Given the description of an element on the screen output the (x, y) to click on. 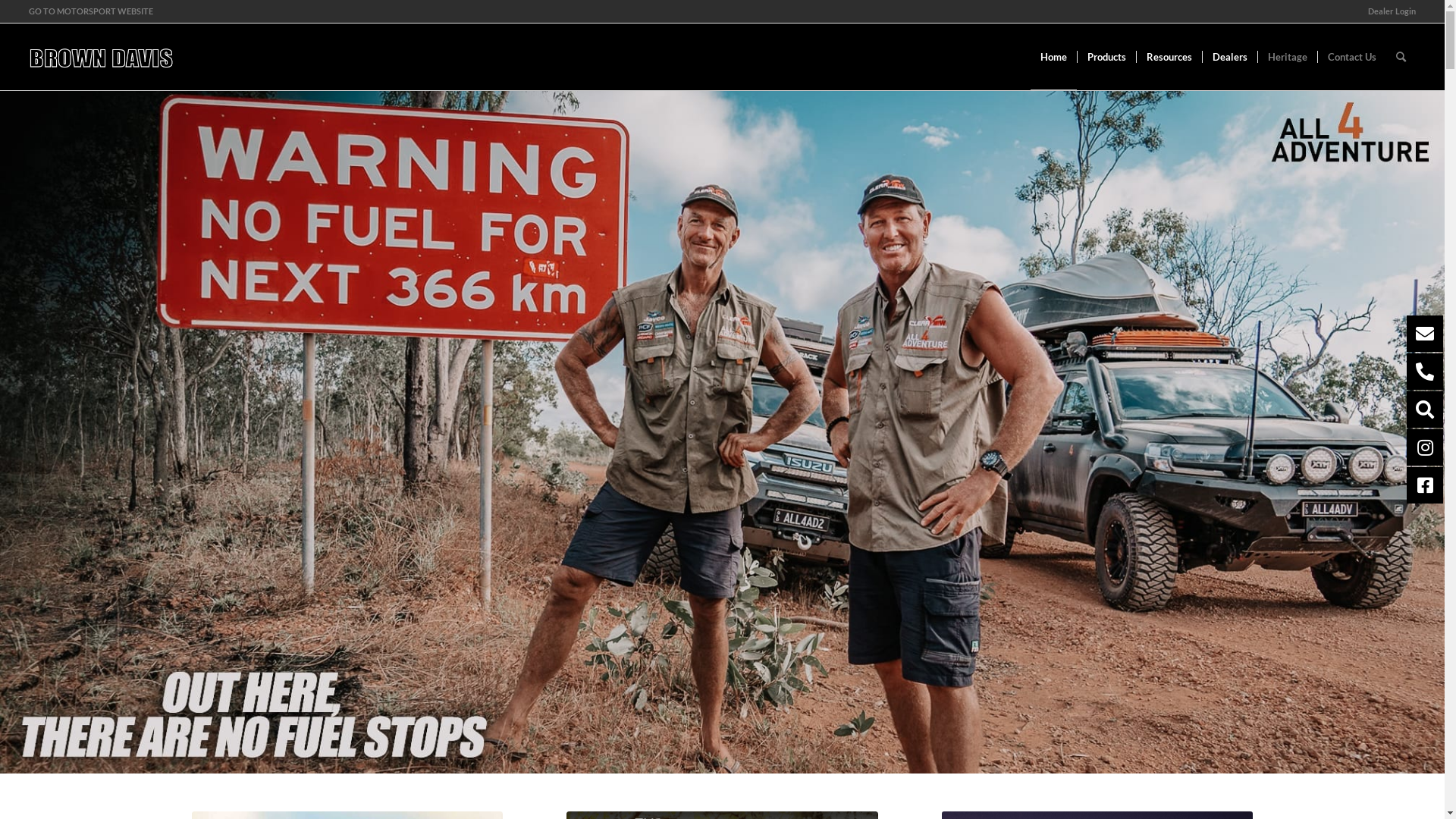
Dealer Login Element type: text (1391, 10)
Home Element type: text (1053, 56)
Resources Element type: text (1168, 56)
Heritage Element type: text (1287, 56)
Dealers Element type: text (1229, 56)
GO TO MOTORSPORT WEBSITE Element type: text (90, 10)
Contact Us Element type: text (1351, 56)
Products Element type: text (1105, 56)
Untitled-13-2 Element type: hover (722, 431)
